Given the description of an element on the screen output the (x, y) to click on. 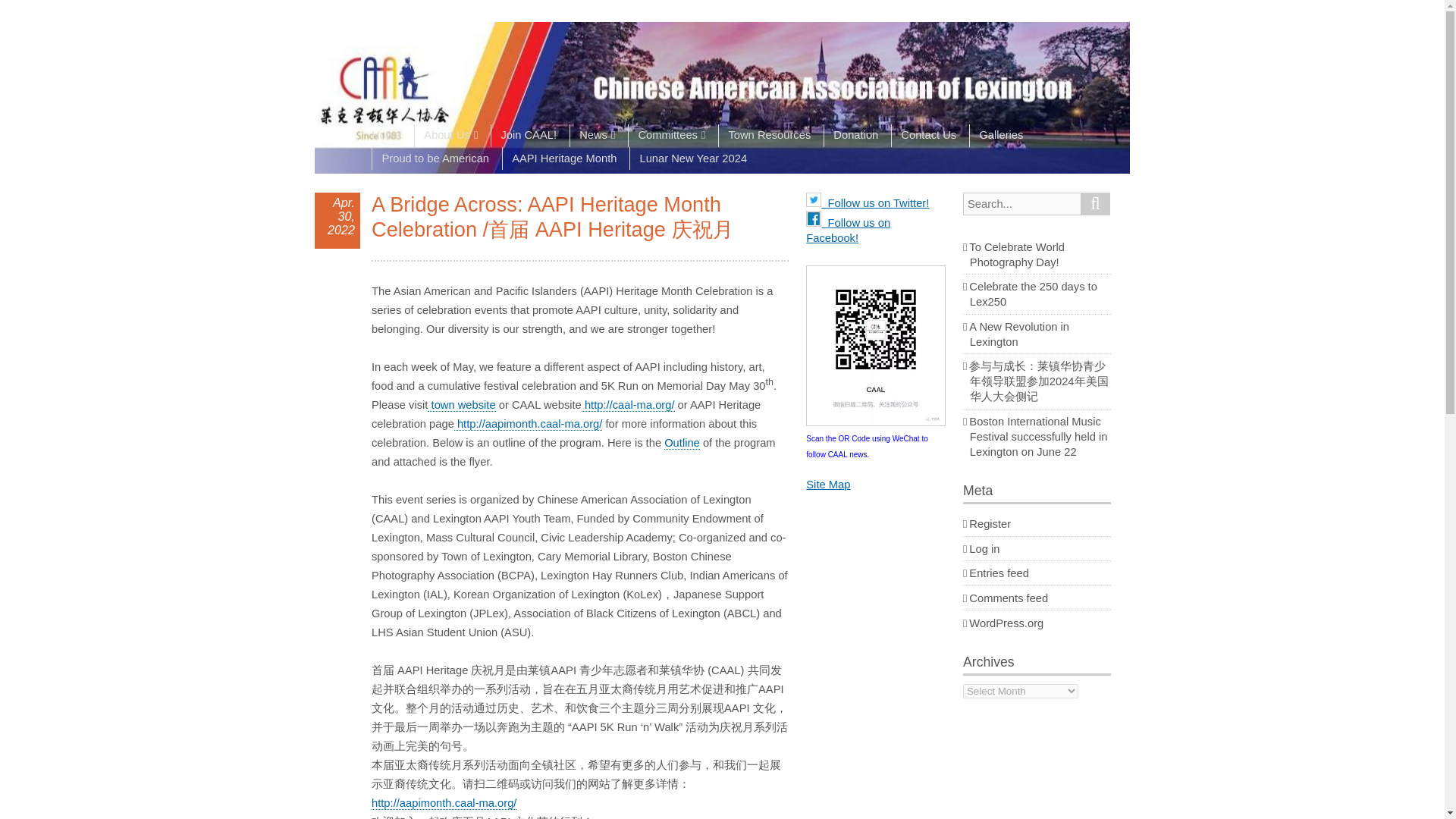
Home (390, 135)
  Follow us on Facebook! (847, 230)
About Us (450, 135)
Contact Us (928, 135)
Proud to be American (435, 158)
town website (461, 404)
Galleries (1000, 135)
Committees (670, 135)
Donation (856, 135)
  Follow us on Twitter! (867, 203)
